Given the description of an element on the screen output the (x, y) to click on. 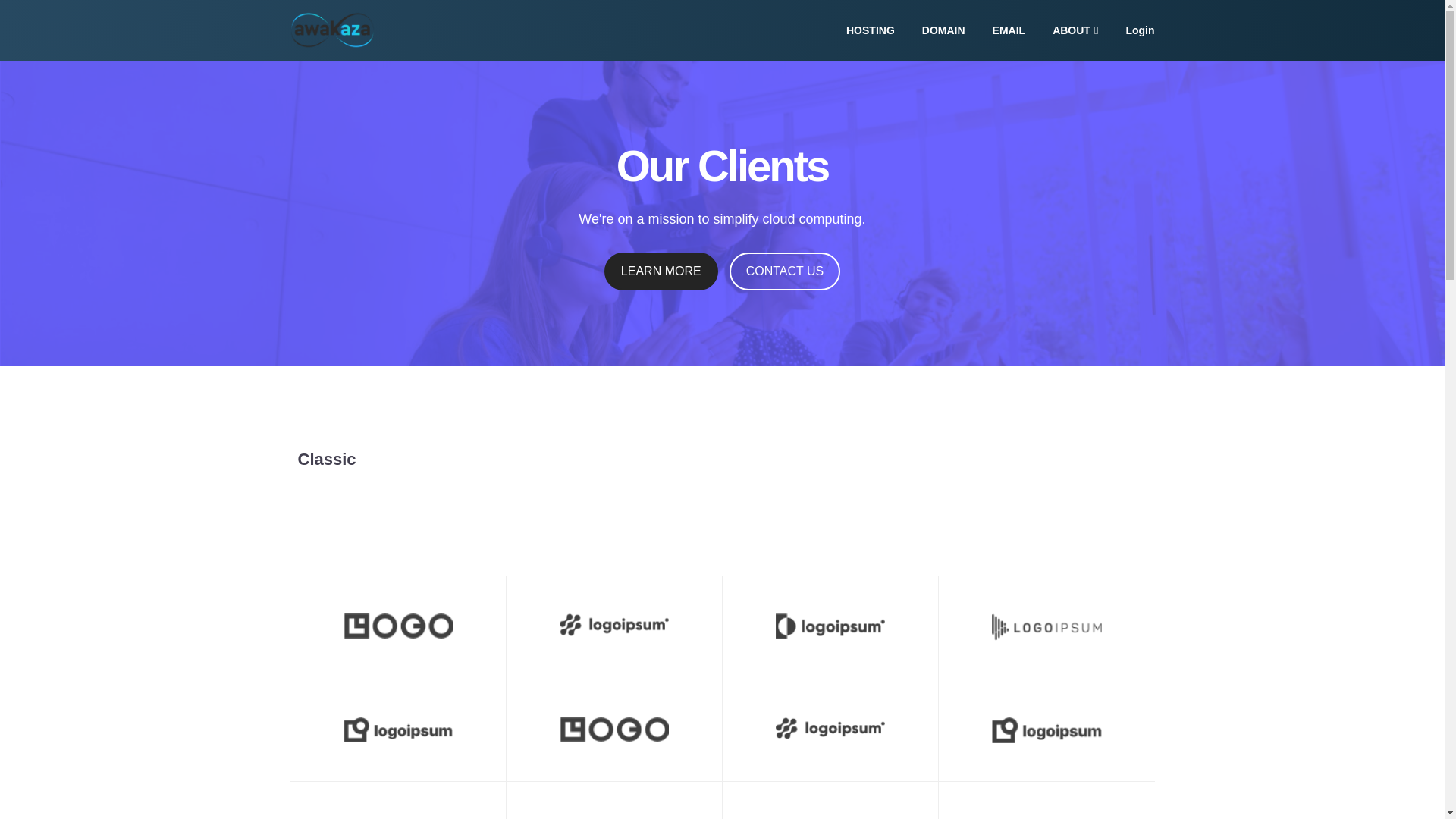
EMAIL (1009, 30)
CONTACT US (785, 271)
logo-11 (396, 625)
logo-8 (828, 728)
DOMAIN (943, 30)
logo-11 (613, 729)
Login (1139, 30)
logo-1 (1046, 729)
LEARN MORE (660, 271)
ABOUT (1074, 30)
HOSTING (870, 30)
logo-6 (828, 625)
logo-2 (1046, 626)
logo-1 (396, 729)
logo-8 (613, 624)
